Given the description of an element on the screen output the (x, y) to click on. 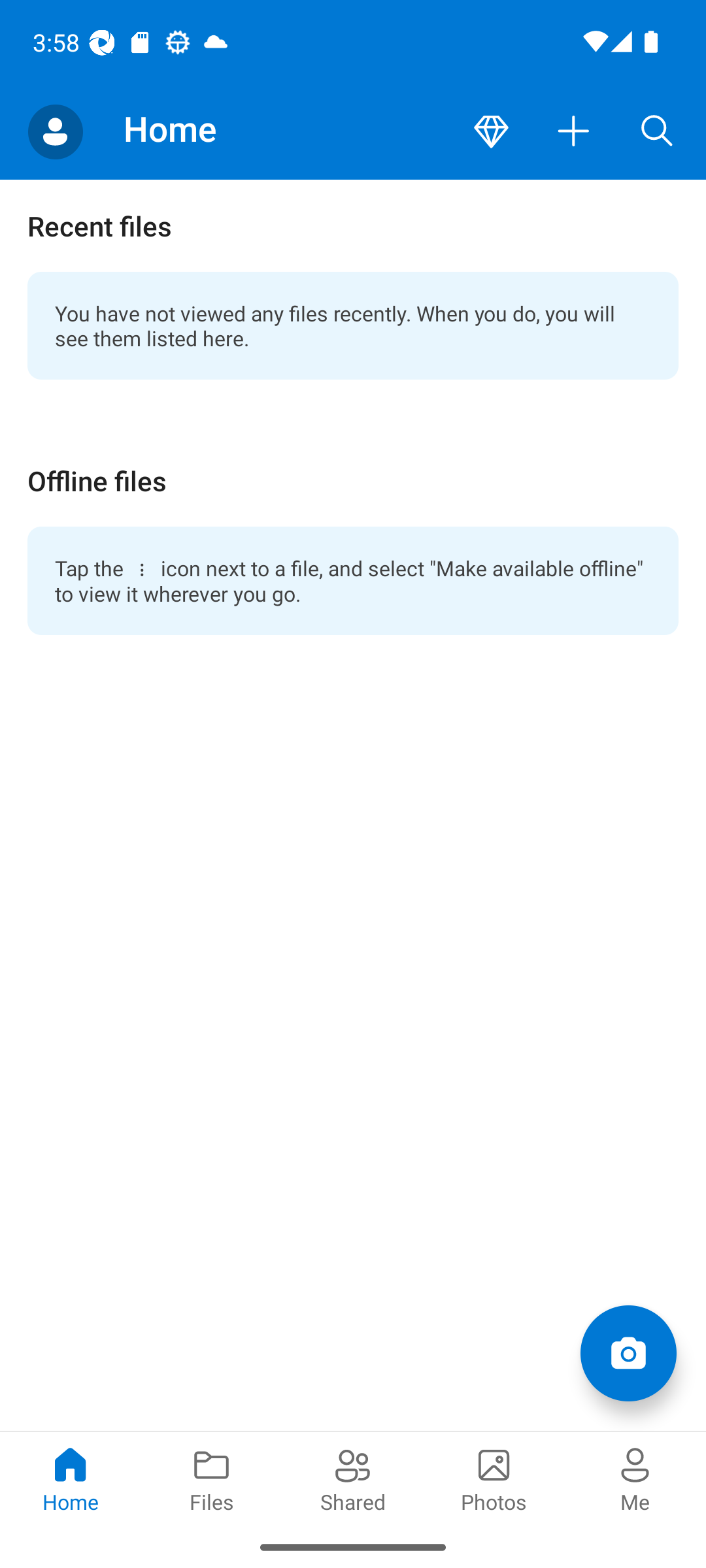
Account switcher (55, 131)
Premium button (491, 131)
More actions button (574, 131)
Search button (656, 131)
Scan (628, 1352)
Files pivot Files (211, 1478)
Shared pivot Shared (352, 1478)
Photos pivot Photos (493, 1478)
Me pivot Me (635, 1478)
